Given the description of an element on the screen output the (x, y) to click on. 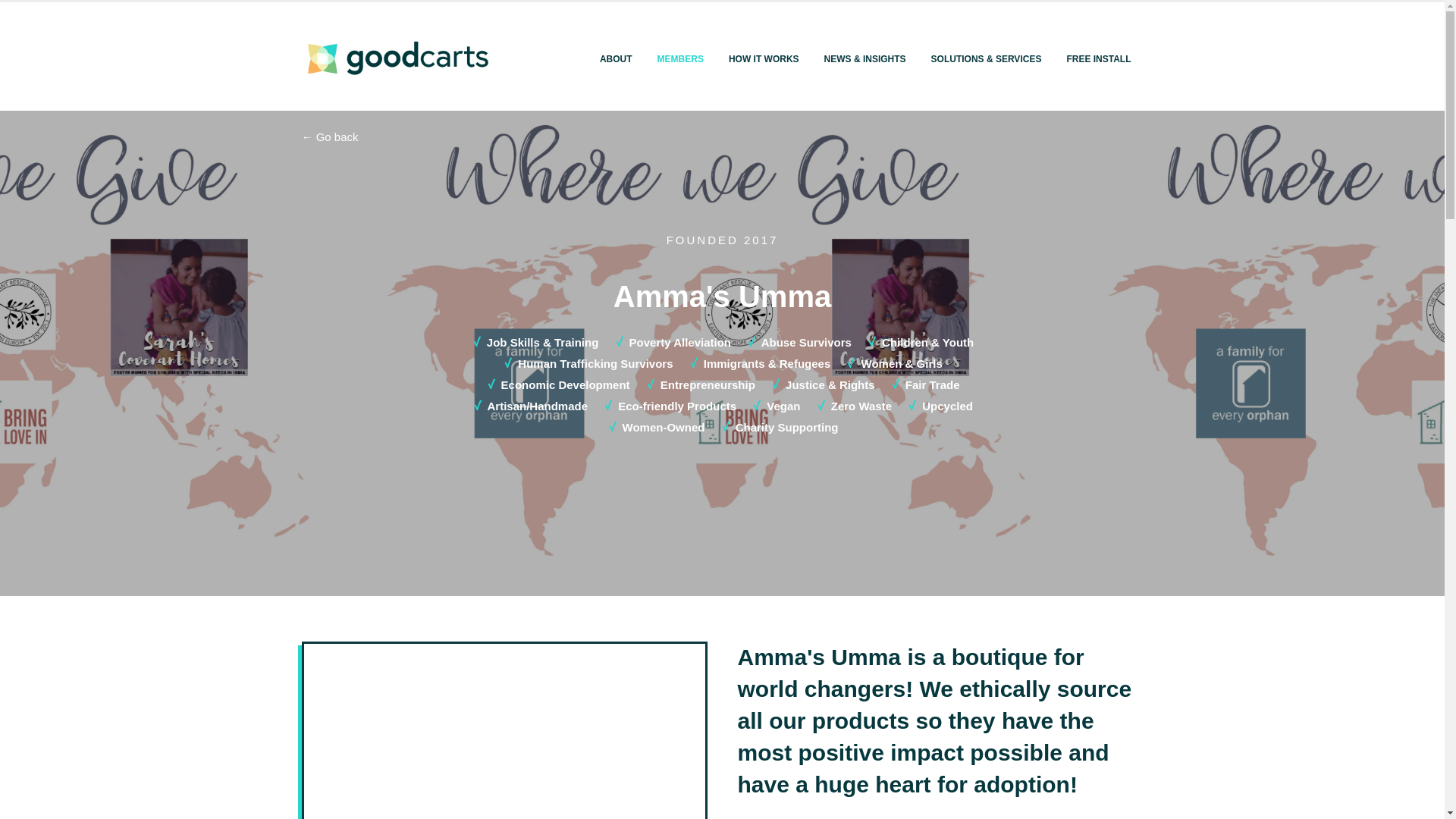
FREE INSTALL (1098, 59)
MEMBERS (680, 59)
ABOUT (616, 59)
GoodCarts - Ecommerce communities that grow together (396, 57)
HOW IT WORKS (763, 59)
